Given the description of an element on the screen output the (x, y) to click on. 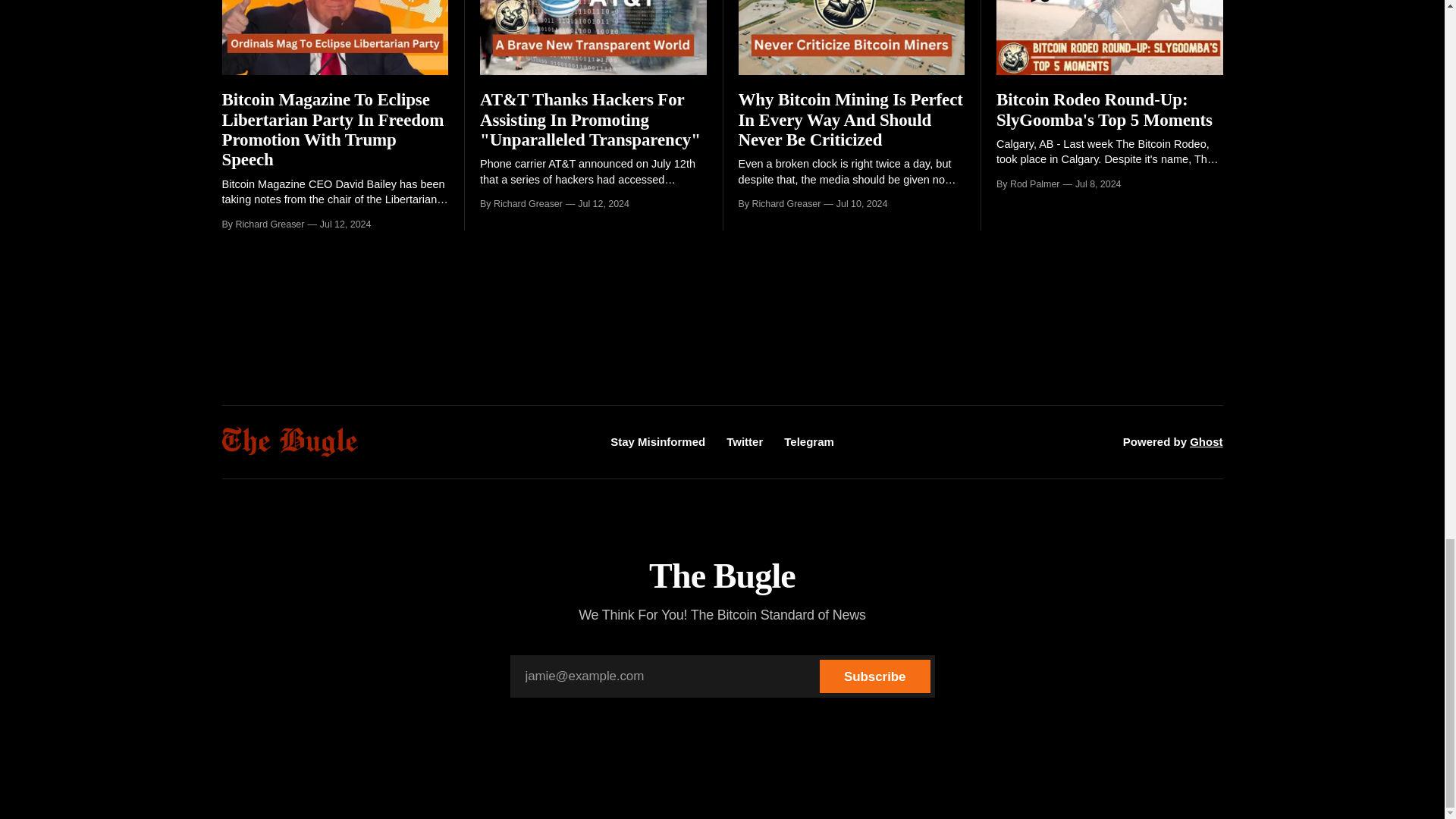
Subscribe (874, 676)
Stay Misinformed (657, 440)
Ghost (1206, 440)
Twitter (744, 440)
Telegram (809, 440)
